Given the description of an element on the screen output the (x, y) to click on. 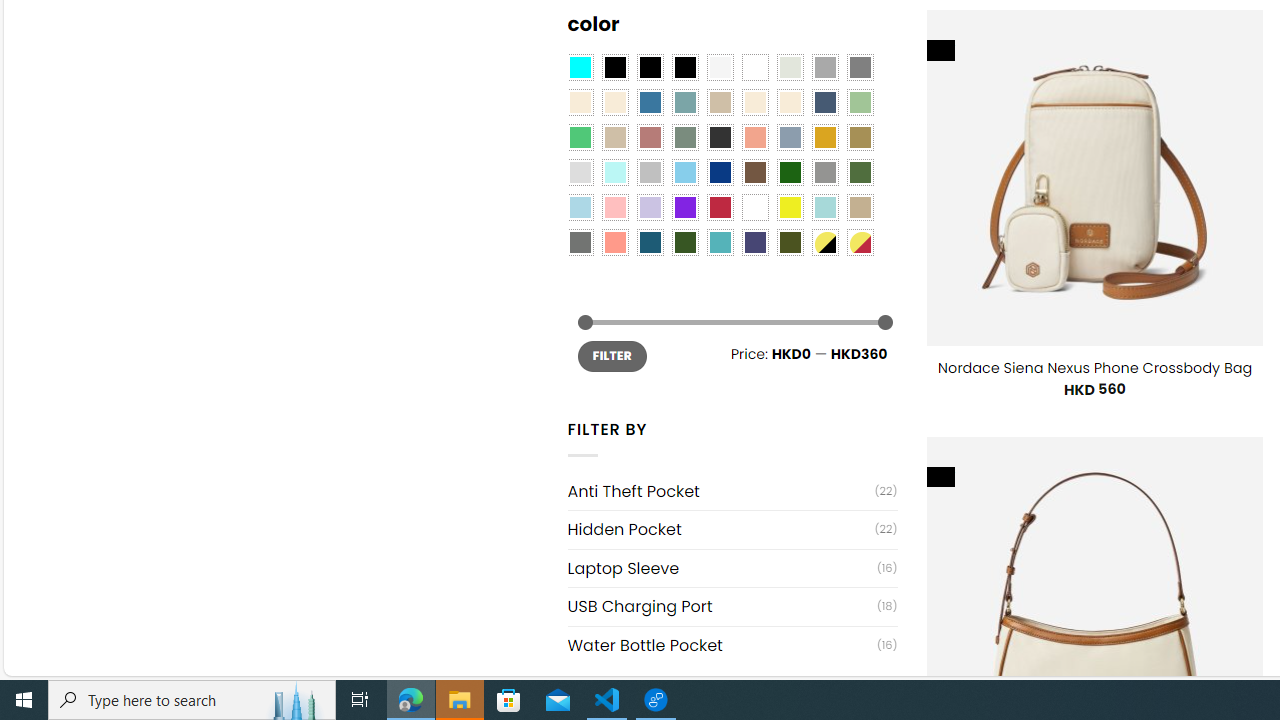
Gold (824, 138)
Khaki (859, 208)
Purple (684, 208)
Emerald Green (579, 138)
Purple Navy (755, 242)
Beige (579, 102)
Hidden Pocket(22) (732, 528)
USB Charging Port (721, 606)
Caramel (755, 102)
Charcoal (719, 138)
Dark Gray (824, 67)
USB Charging Port(18) (732, 605)
Kelp (859, 138)
Aqua (824, 208)
Dusty Blue (789, 138)
